Given the description of an element on the screen output the (x, y) to click on. 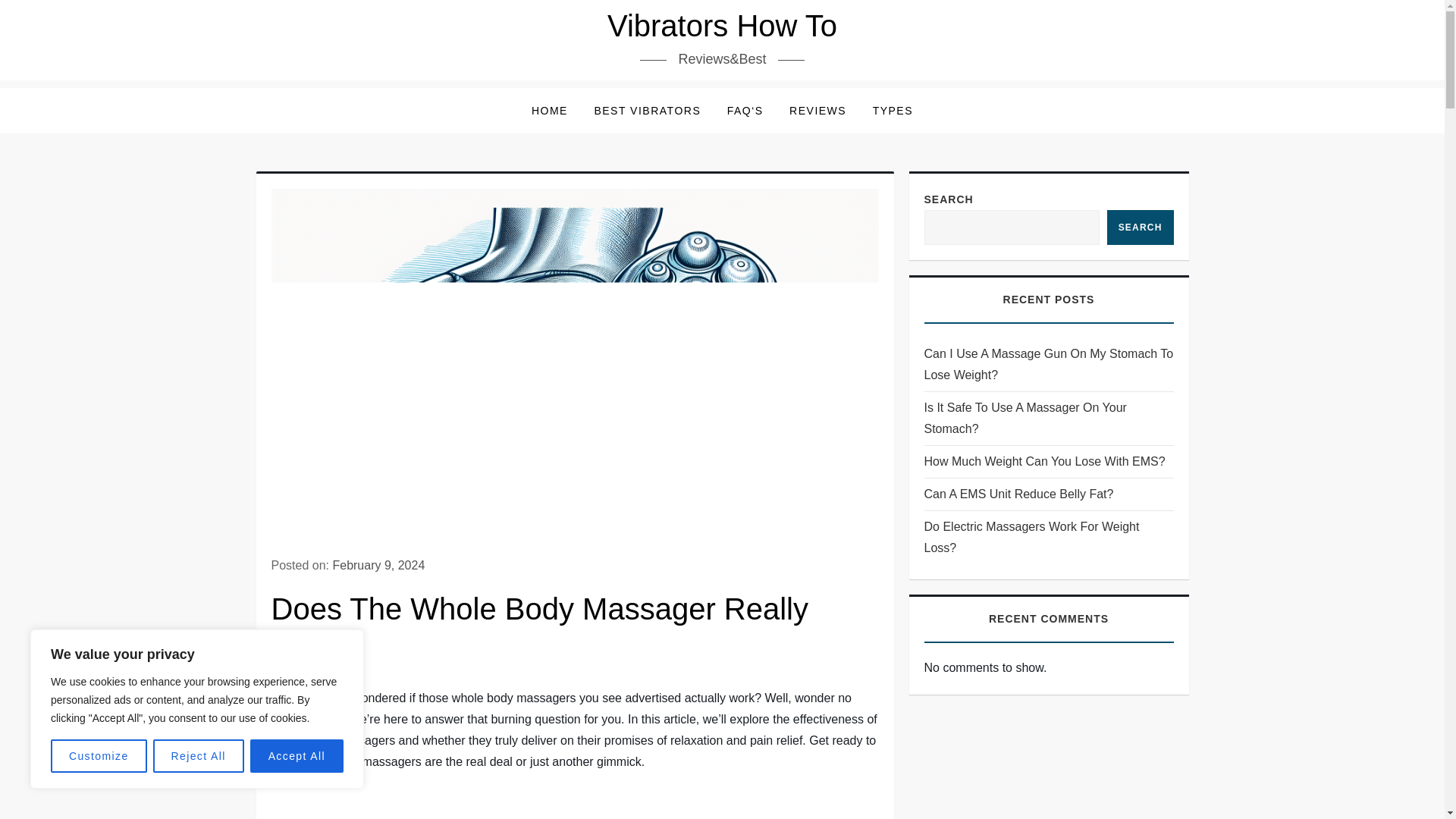
BEST VIBRATORS (646, 110)
Customize (98, 756)
Vibrators How To (722, 25)
Accept All (296, 756)
Reject All (198, 756)
February 9, 2024 (378, 564)
HOME (549, 110)
TYPES (892, 110)
REVIEWS (817, 110)
